Given the description of an element on the screen output the (x, y) to click on. 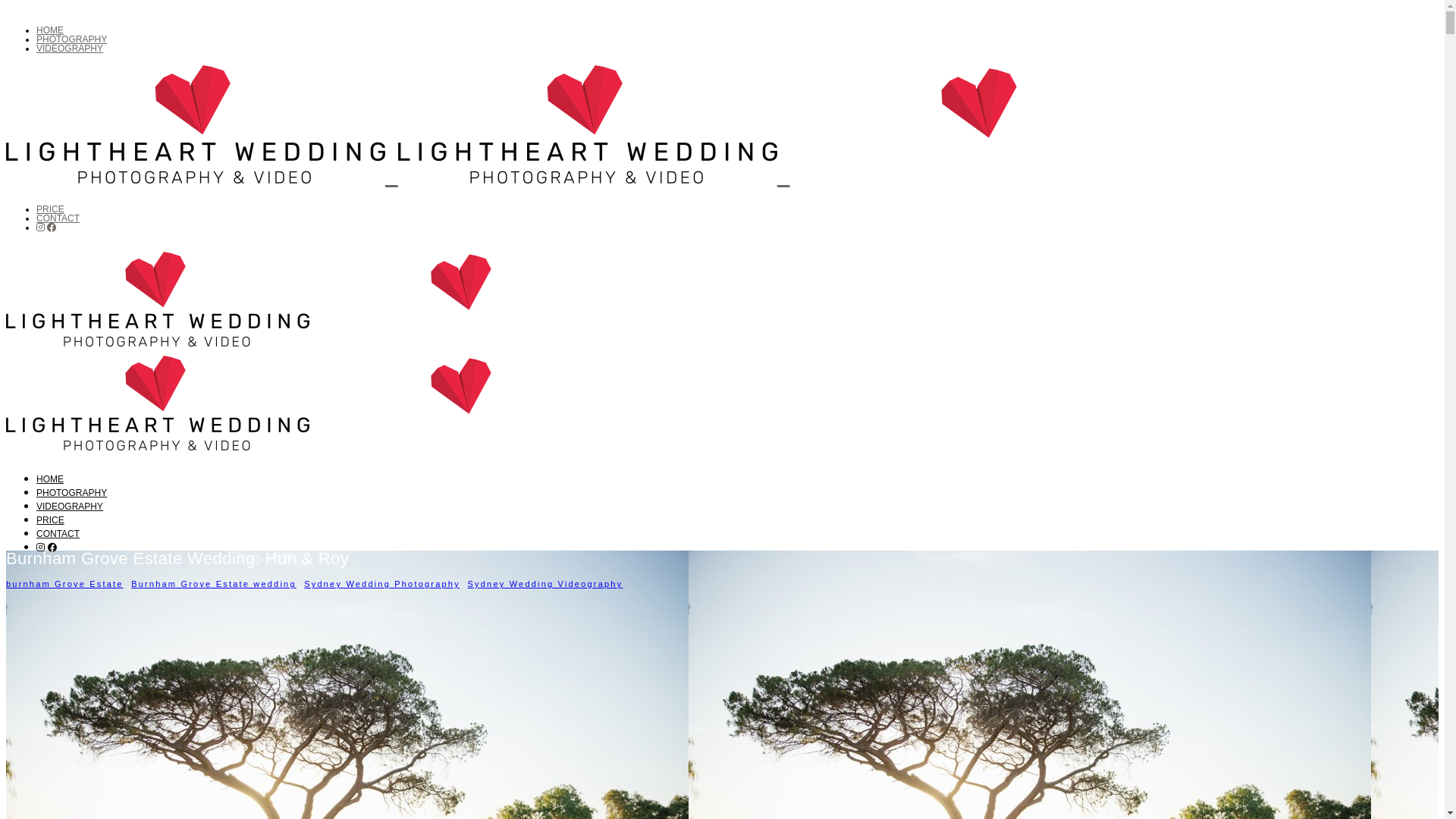
PRICE Element type: text (50, 519)
HOME Element type: text (49, 30)
burnham Grove Estate Element type: text (64, 583)
VIDEOGRAPHY Element type: text (69, 48)
PHOTOGRAPHY Element type: text (71, 492)
HOME Element type: text (49, 478)
VIDEOGRAPHY Element type: text (69, 506)
PRICE Element type: text (50, 208)
Sydney Wedding Videography Element type: text (545, 583)
CONTACT Element type: text (57, 218)
CONTACT Element type: text (57, 533)
Sydney Wedding Photography Element type: text (381, 583)
PHOTOGRAPHY Element type: text (71, 39)
Burnham Grove Estate wedding Element type: text (213, 583)
